Given the description of an element on the screen output the (x, y) to click on. 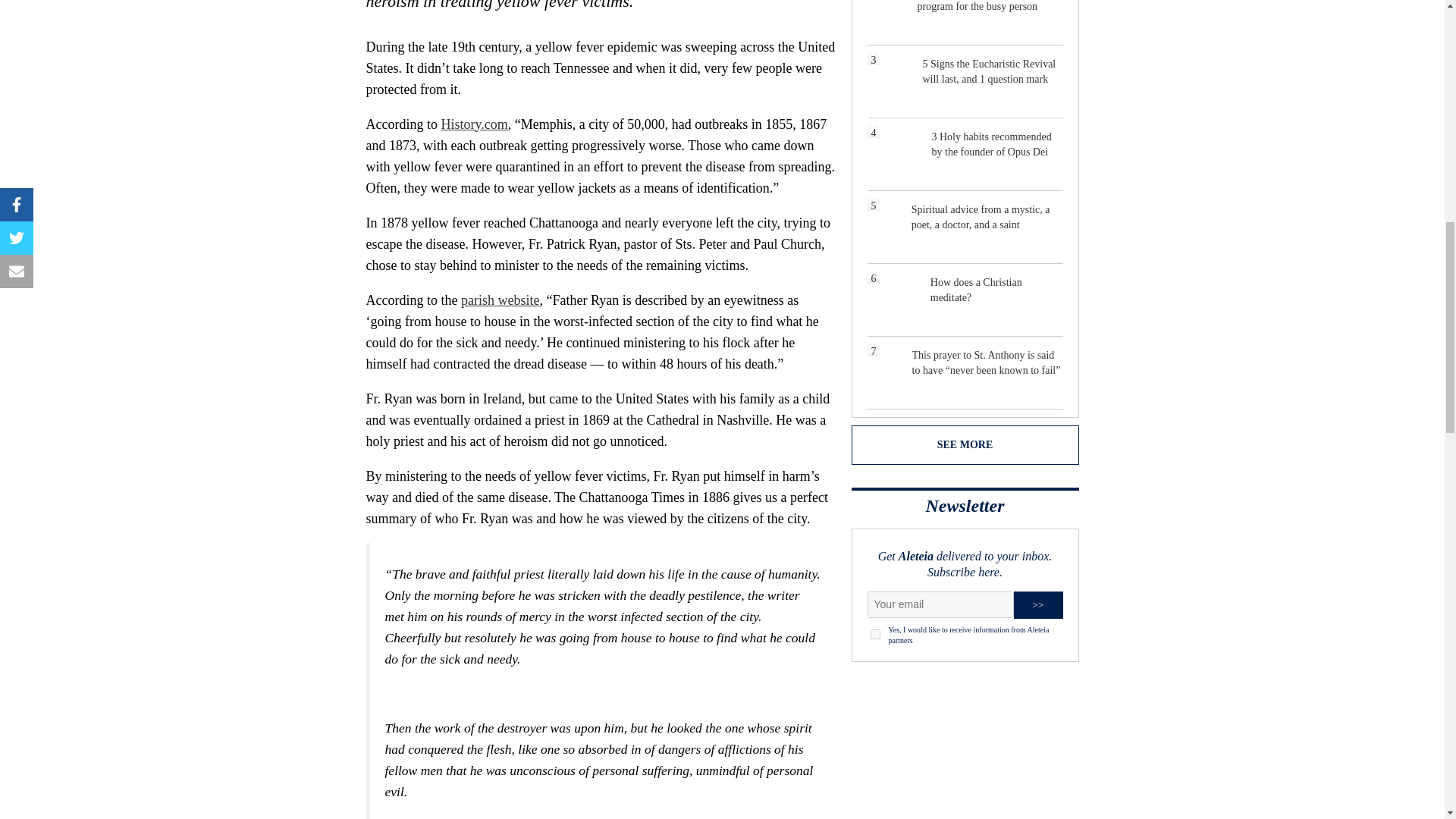
History.com (473, 124)
1 (875, 634)
parish website (499, 299)
